Given the description of an element on the screen output the (x, y) to click on. 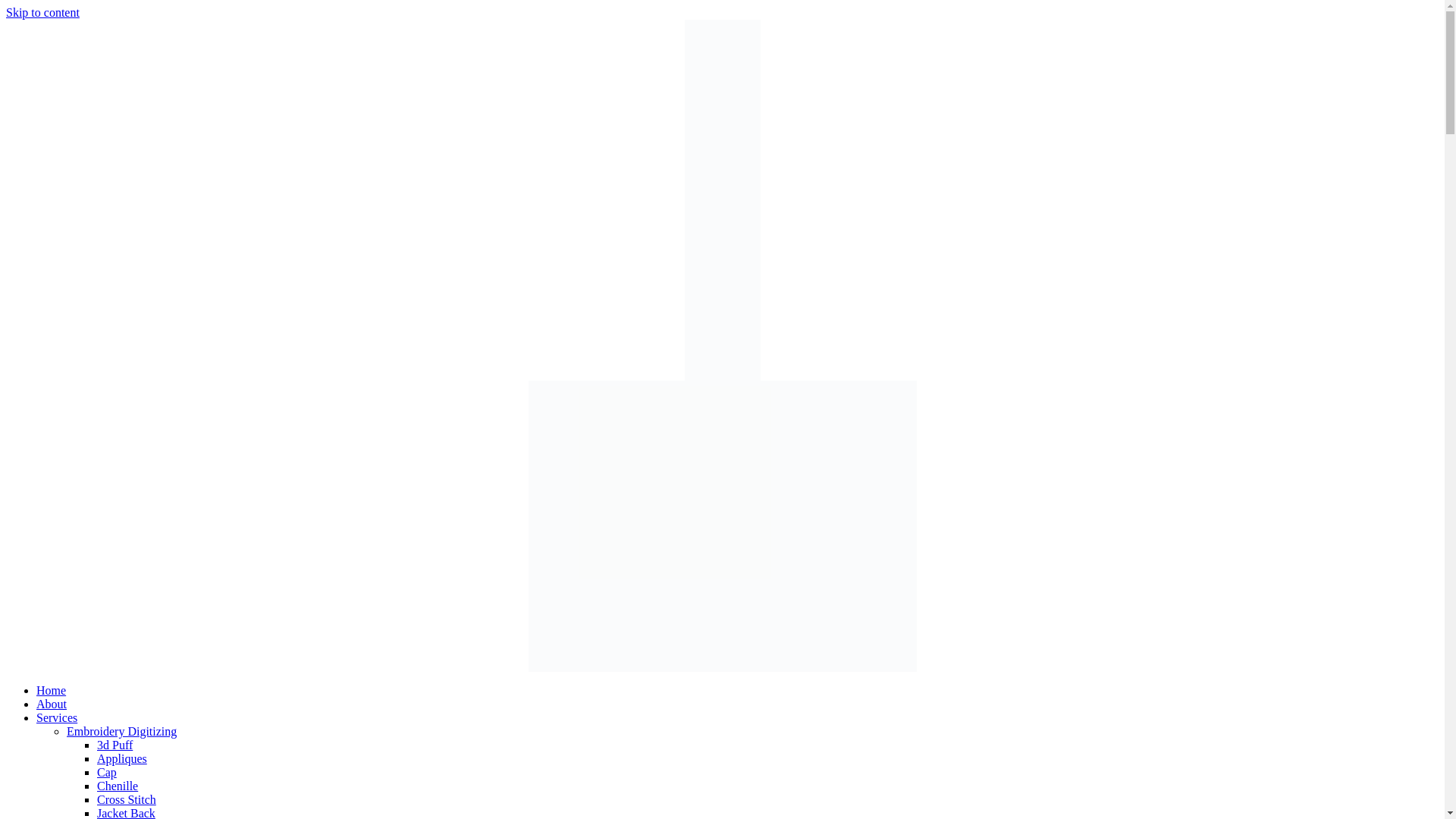
About (51, 703)
Appliques (122, 758)
Embroidery Digitizing (121, 730)
Services (56, 717)
Chenille (117, 785)
Home (50, 689)
Skip to content (42, 11)
Cross Stitch (126, 799)
Cap (106, 771)
Jacket Back (126, 812)
3d Puff (114, 744)
